Given the description of an element on the screen output the (x, y) to click on. 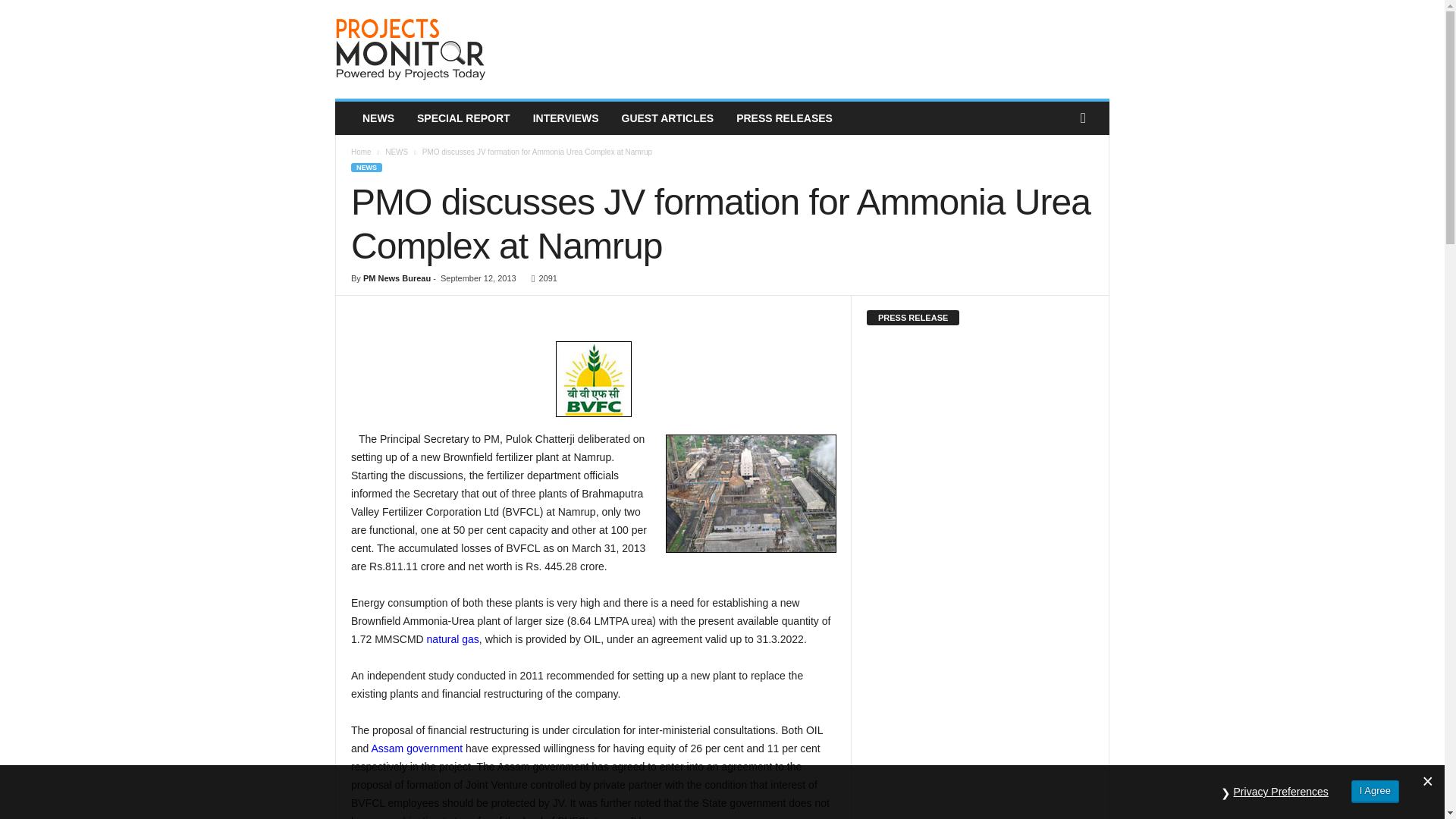
India's first News Website on Projects Investment (437, 48)
NEWS (365, 166)
NEWS (378, 118)
NEWS (396, 152)
GUEST ARTICLES (667, 118)
SPECIAL REPORT (463, 118)
Assam government (417, 748)
PM News Bureau (396, 277)
natural gas (452, 639)
View all posts in NEWS (396, 152)
